Given the description of an element on the screen output the (x, y) to click on. 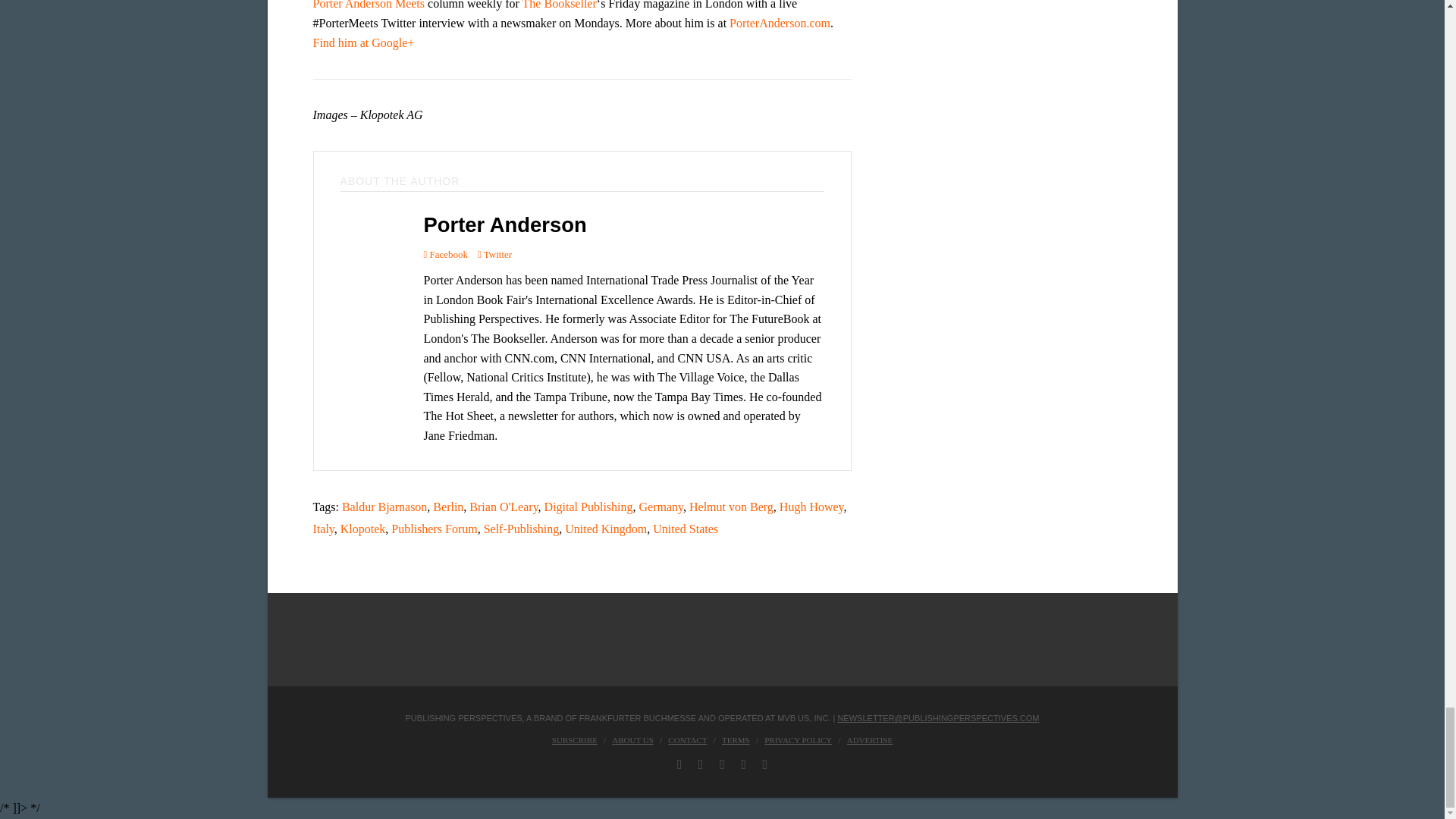
Visit the Twitter Profile for Porter Anderson (494, 253)
Visit the Facebook Profile for Porter Anderson (445, 253)
Terms and Conditions (735, 739)
Subscribe to Publishing Perspectives (573, 739)
